Given the description of an element on the screen output the (x, y) to click on. 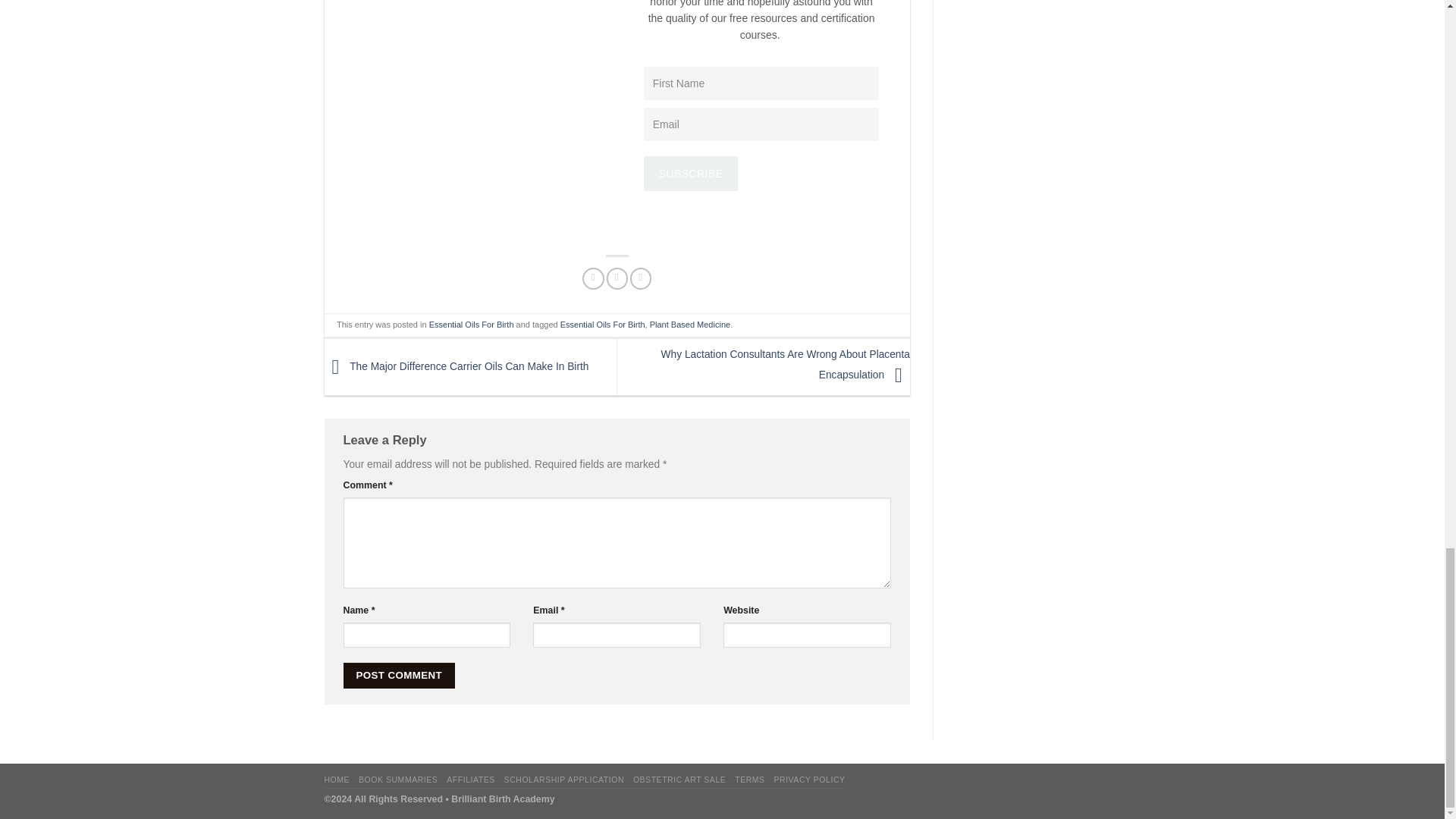
Share on Twitter (617, 278)
Essential Oils For Birth (602, 324)
Pin on Pinterest (640, 278)
Post Comment (398, 675)
The Major Difference Carrier Oils Can Make In Birth (456, 366)
Plant Based Medicine (689, 324)
Share on Facebook (593, 278)
Post Comment (398, 675)
Essential Oils For Birth (471, 324)
